Given the description of an element on the screen output the (x, y) to click on. 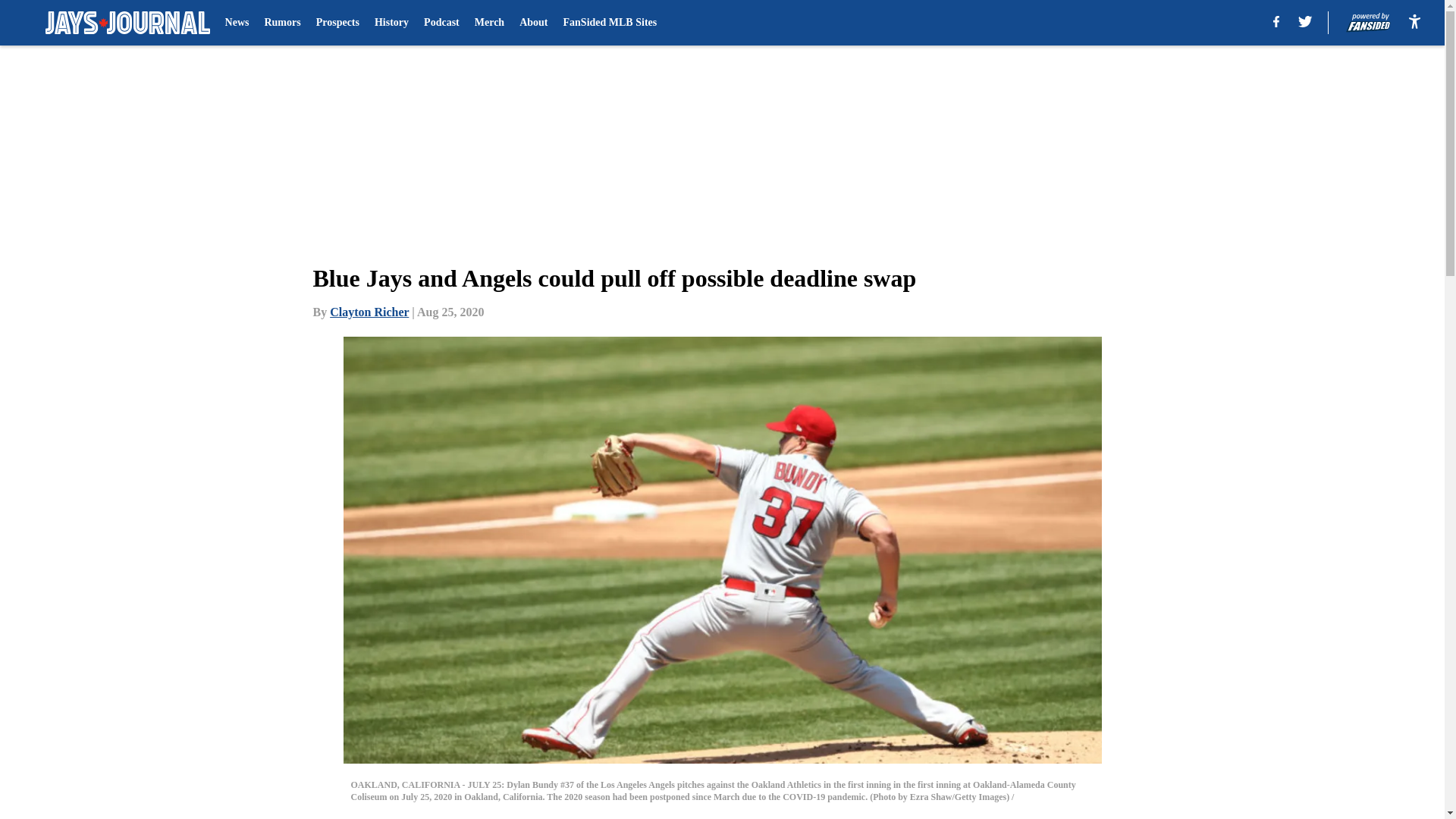
News (236, 22)
History (391, 22)
Merch (488, 22)
About (533, 22)
FanSided MLB Sites (610, 22)
Rumors (281, 22)
Clayton Richer (369, 311)
Podcast (441, 22)
Prospects (337, 22)
